Given the description of an element on the screen output the (x, y) to click on. 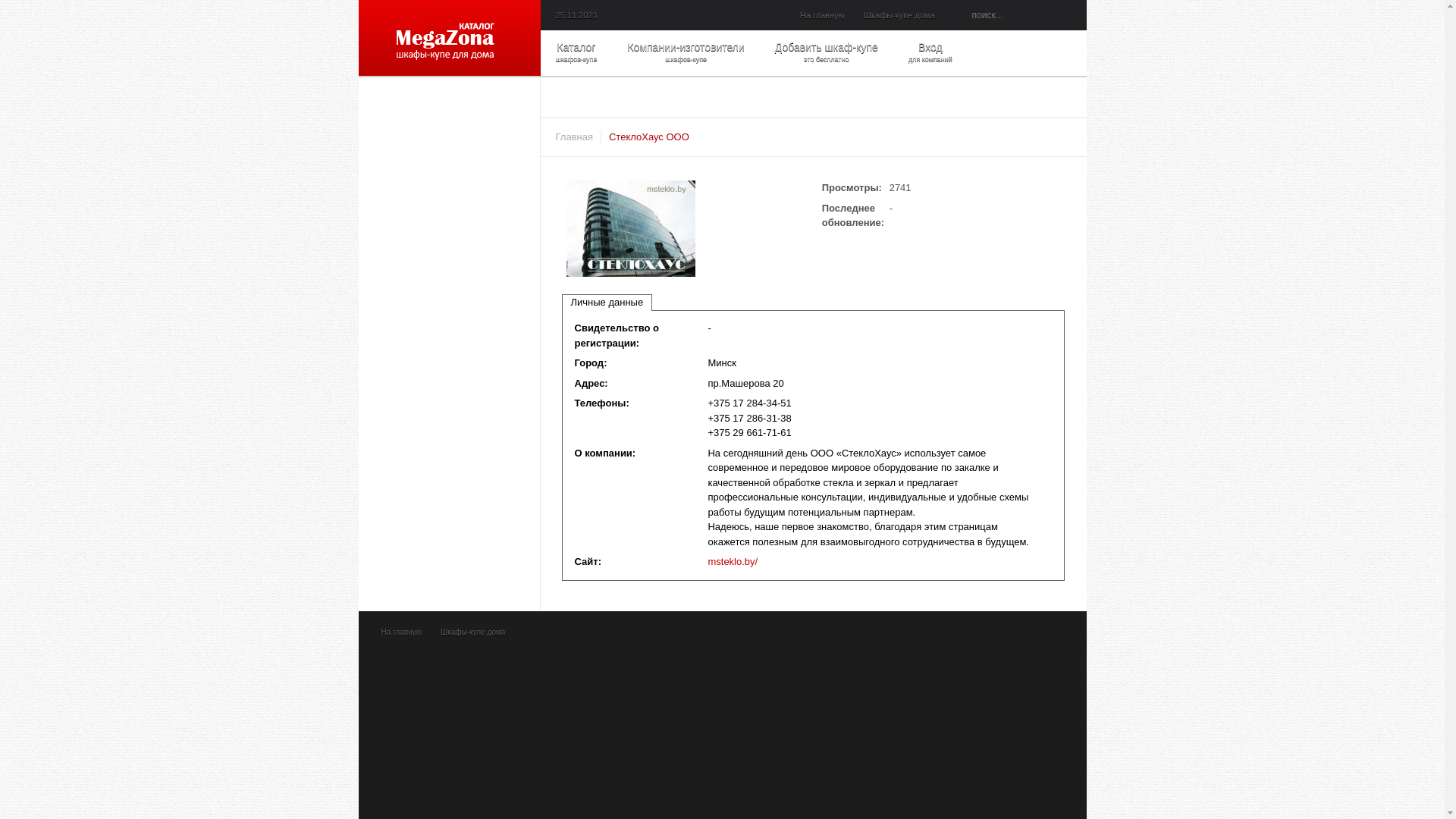
msteklo.by/ Element type: text (732, 561)
Reset Element type: text (8, 9)
Search Element type: text (962, 15)
